Given the description of an element on the screen output the (x, y) to click on. 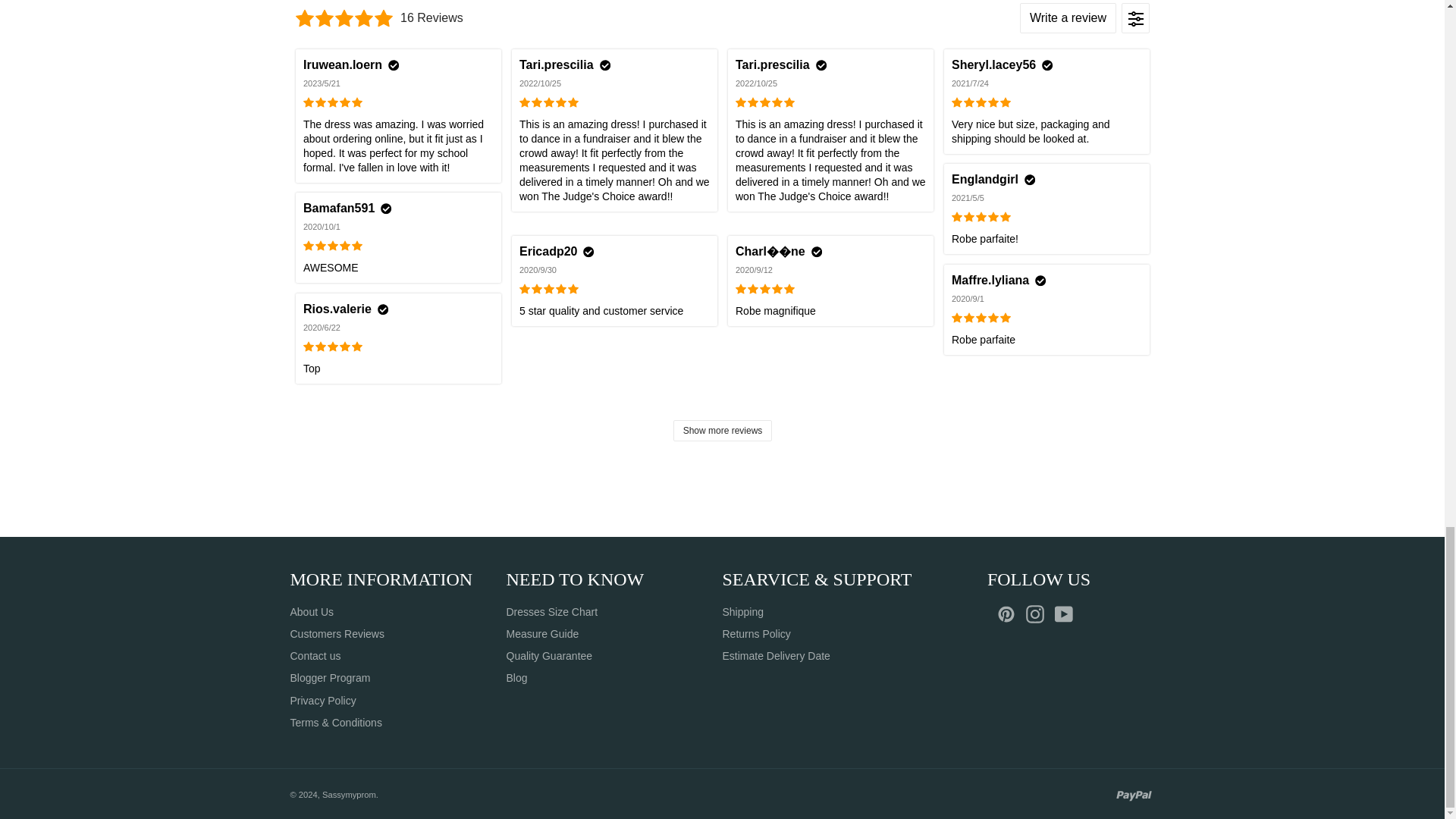
Sassymyprom on Instagram (1038, 614)
Sassymyprom on Pinterest (1010, 614)
Sassymyprom on YouTube (1067, 614)
